Given the description of an element on the screen output the (x, y) to click on. 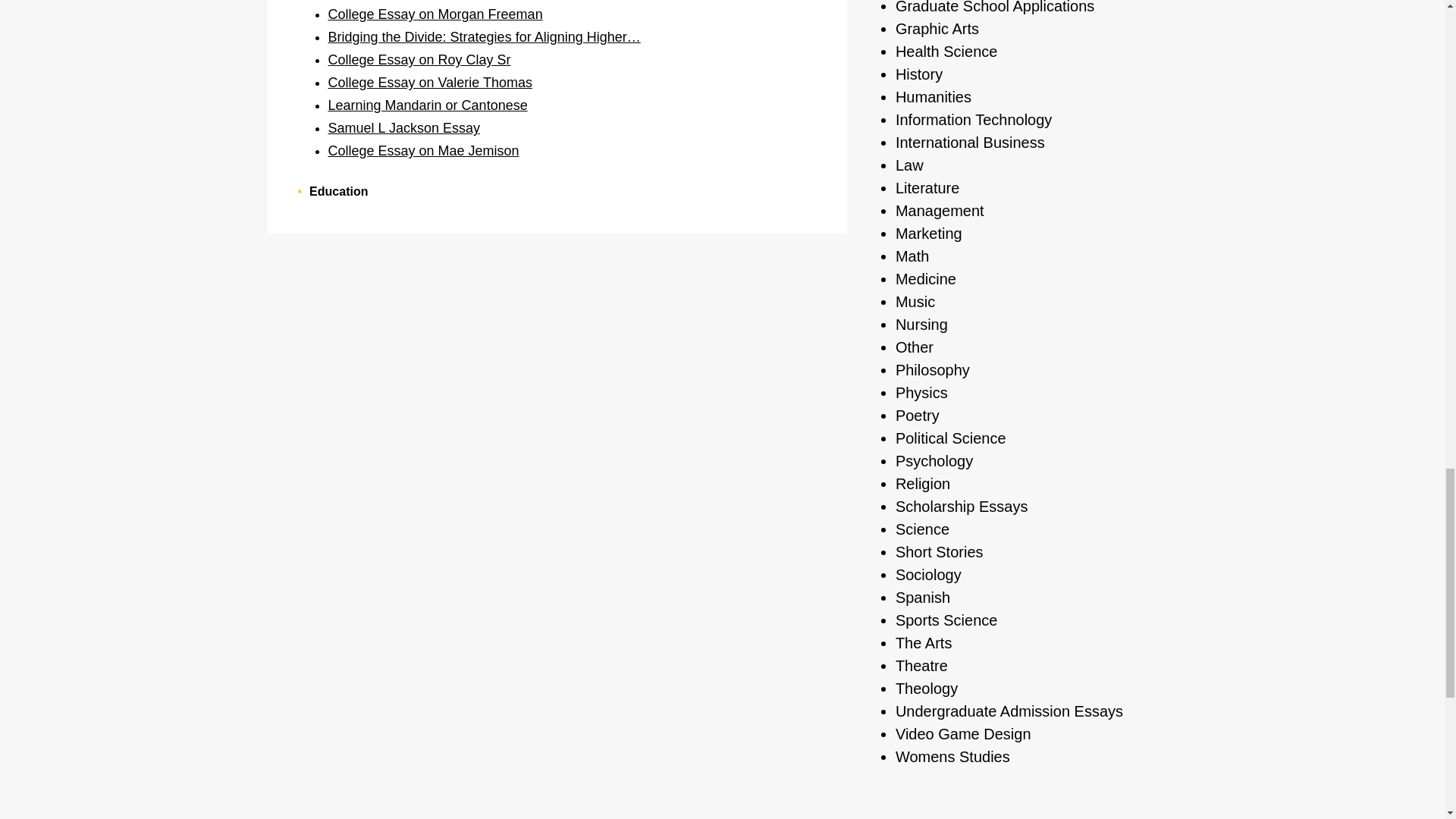
Learning Mandarin or Cantonese (427, 105)
College Essay on Morgan Freeman (434, 14)
College Essay on Roy Clay Sr (419, 59)
Education (338, 191)
Samuel L Jackson Essay (403, 127)
College Essay on Mae Jemison (422, 150)
College Essay on Valerie Thomas (429, 82)
